Given the description of an element on the screen output the (x, y) to click on. 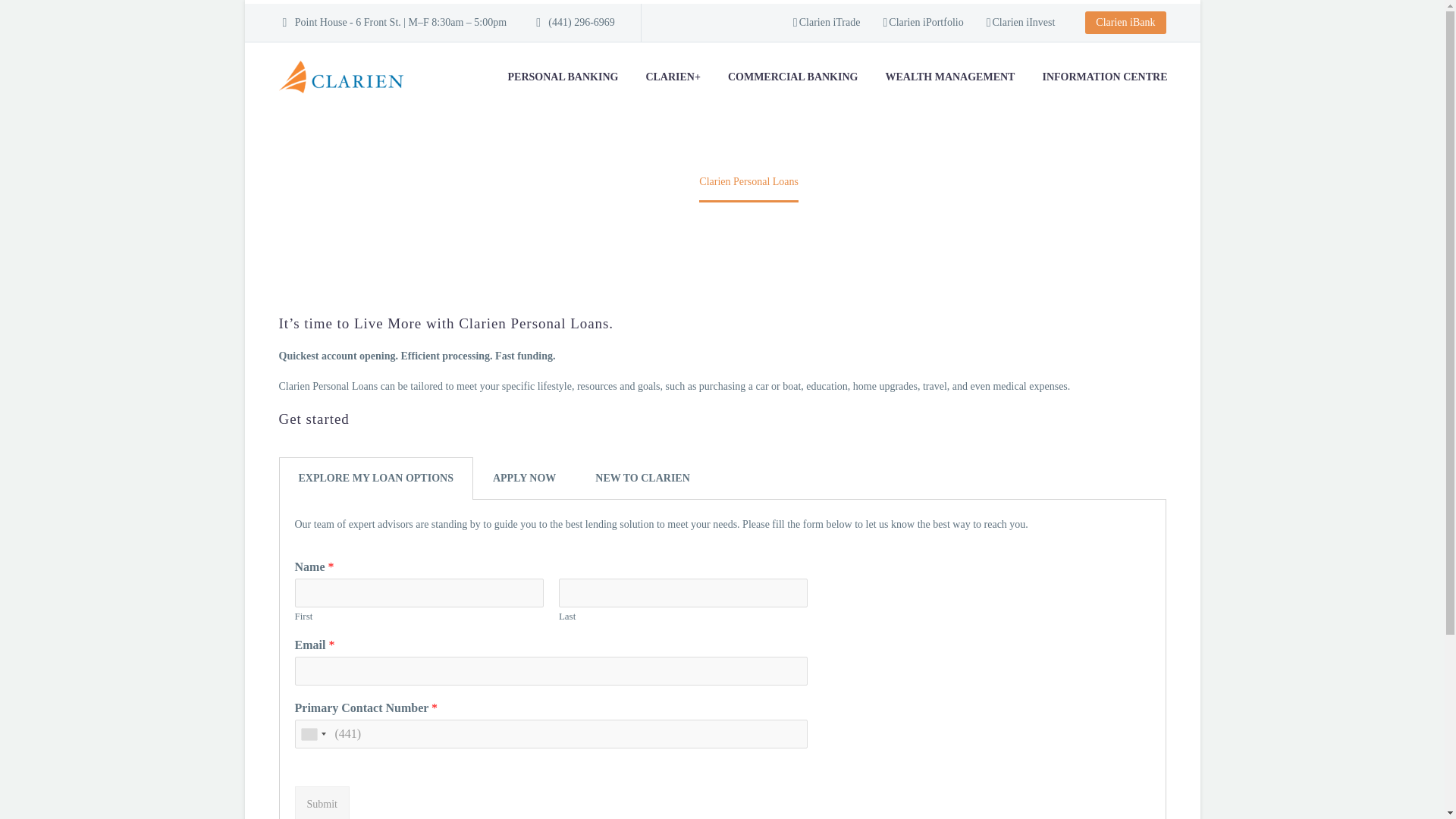
Clarien iPortfolio (922, 22)
COMMERCIAL BANKING (792, 76)
Home (658, 181)
Clarien iBank (1125, 22)
Clarien iTrade (826, 22)
INFORMATION CENTRE (1103, 76)
Clarien iInvest (1021, 22)
WEALTH MANAGEMENT (949, 76)
PERSONAL BANKING (563, 76)
Submit (321, 802)
